Given the description of an element on the screen output the (x, y) to click on. 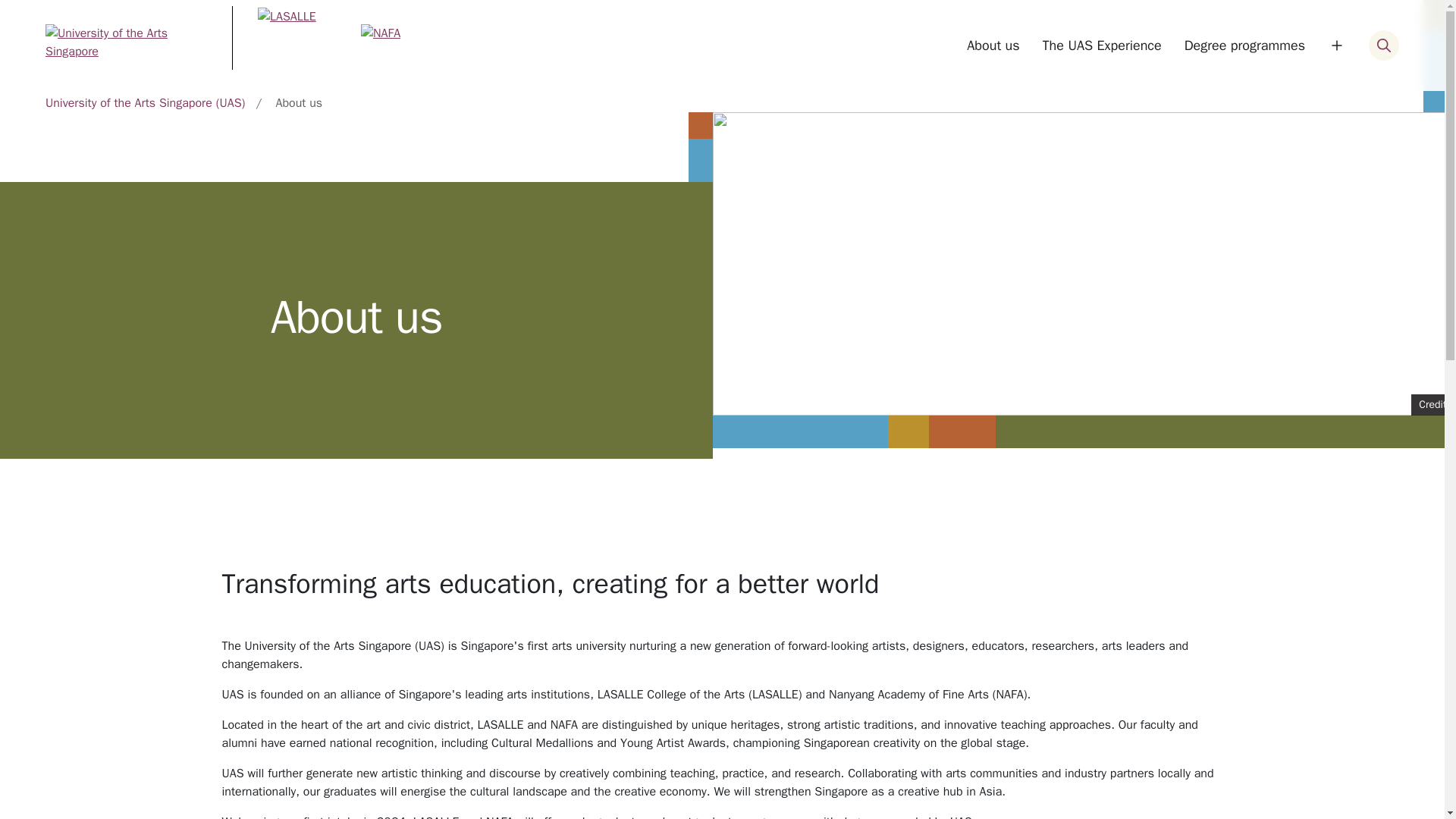
About us (992, 45)
The UAS Experience (1101, 45)
Degree programmes (1244, 45)
